Given the description of an element on the screen output the (x, y) to click on. 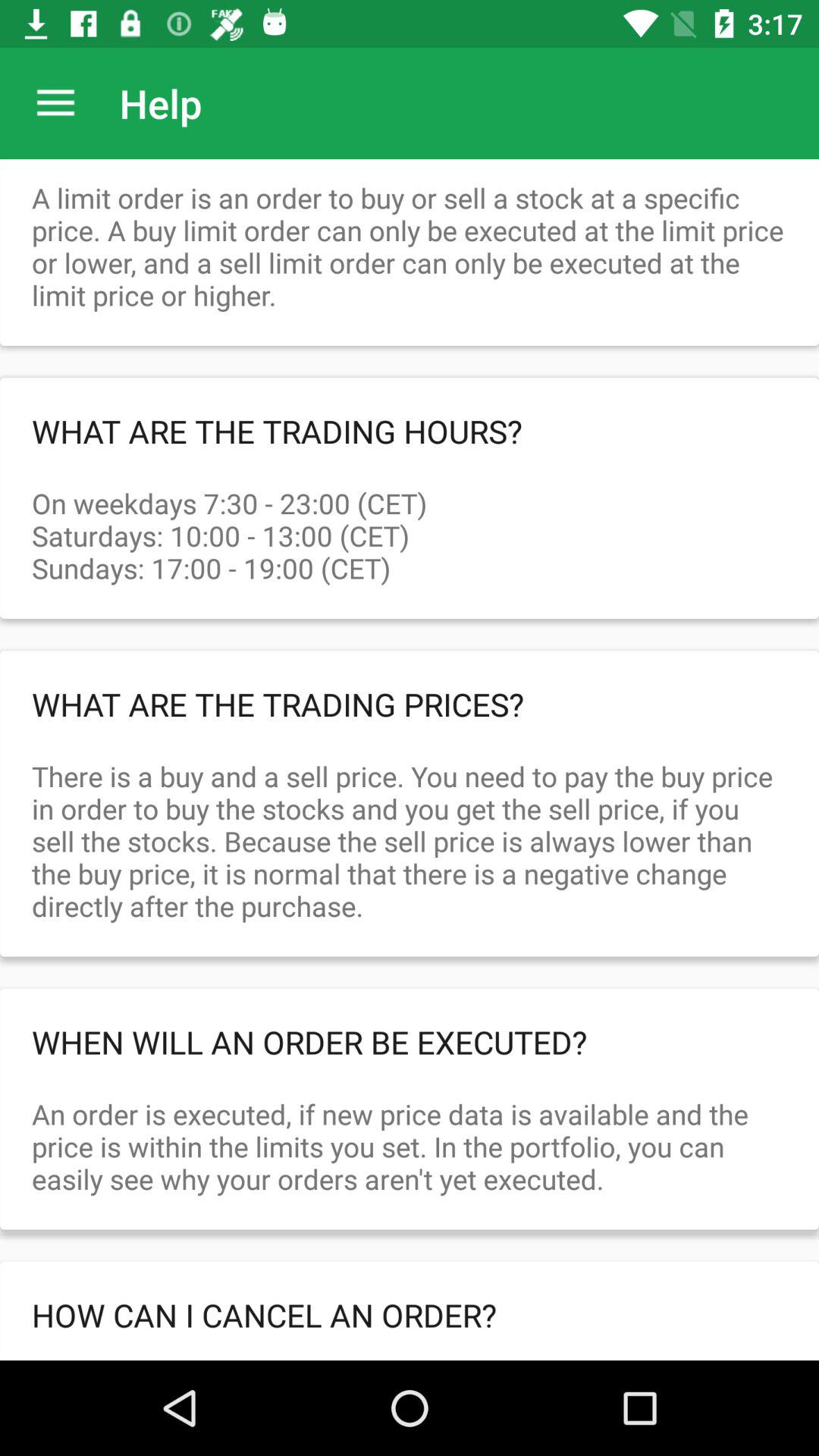
tap the how can i (409, 1314)
